Given the description of an element on the screen output the (x, y) to click on. 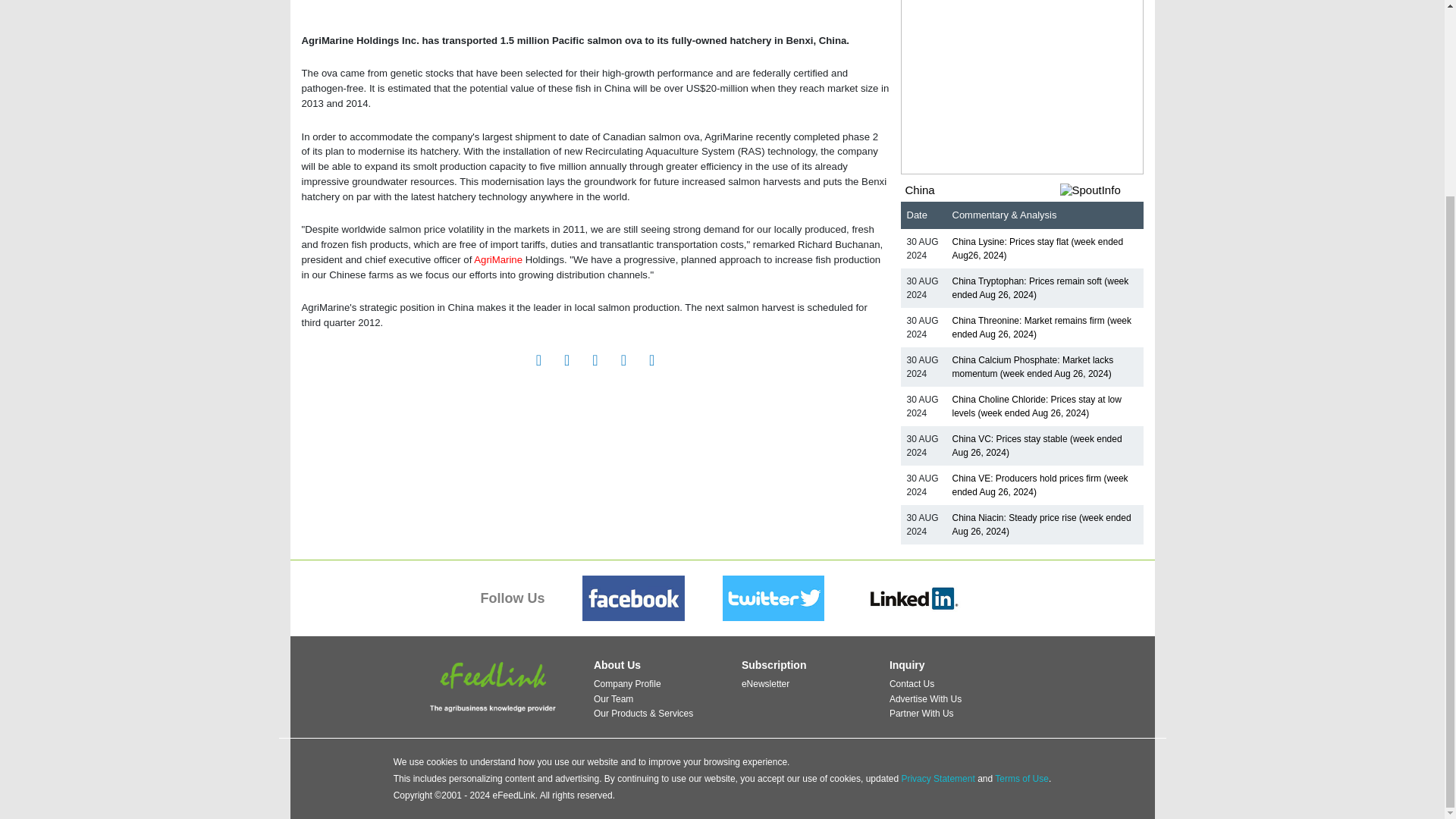
Advertise With Us (924, 698)
AgriMarine (498, 259)
Contact Us (911, 683)
China (919, 189)
Our Team (613, 698)
eNewsletter (765, 683)
Partner With Us (921, 713)
SpoutInfo (1100, 190)
Company Profile (627, 683)
